Given the description of an element on the screen output the (x, y) to click on. 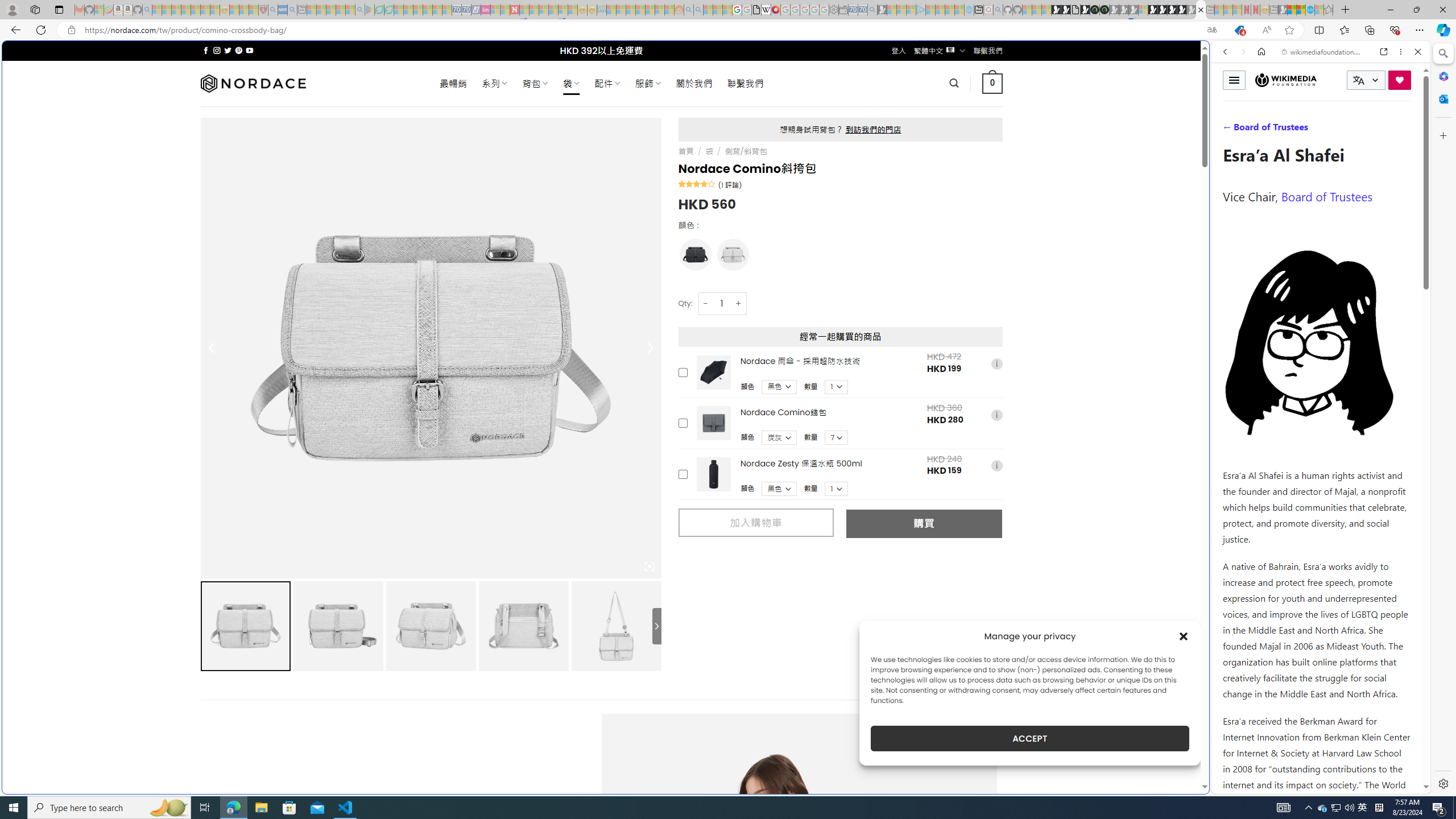
Show translate options (1212, 29)
Future Focus Report 2024 (1103, 9)
Sign in to your account - Sleeping (1143, 9)
+ (738, 303)
